Given the description of an element on the screen output the (x, y) to click on. 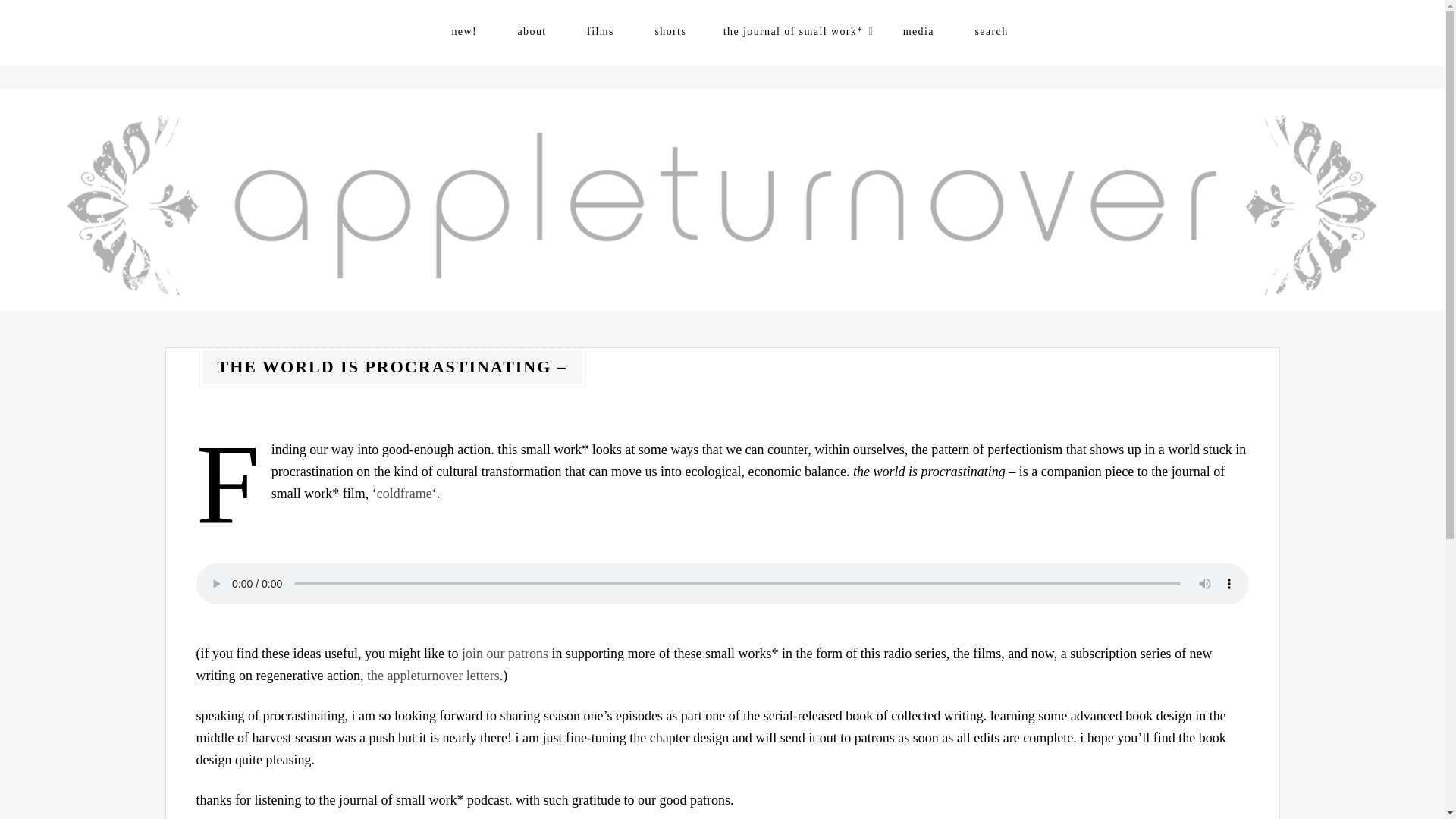
media (918, 31)
about (532, 31)
appleturnover (239, 339)
join our patrons (503, 653)
shorts (669, 31)
films (600, 31)
search (990, 31)
new! (464, 31)
coldframe (404, 493)
the appleturnover letters (432, 675)
